Given the description of an element on the screen output the (x, y) to click on. 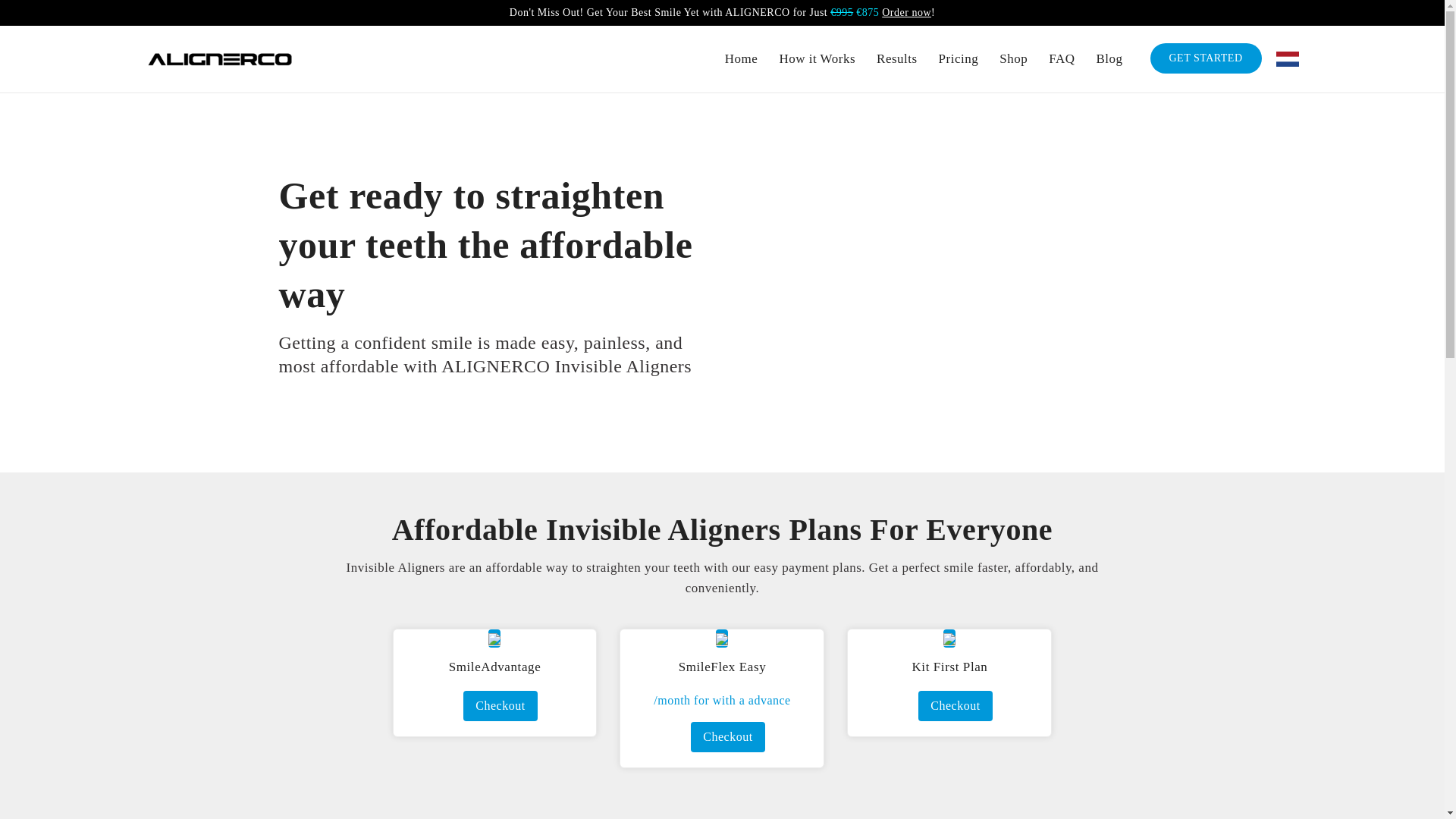
Checkout (727, 736)
Pricing (959, 59)
Home (741, 59)
GET STARTED (1205, 58)
How it Works (817, 59)
Order now (906, 12)
Shop (1013, 59)
SKIP TO CONTENT (18, 8)
Checkout (954, 706)
Checkout (500, 706)
